Given the description of an element on the screen output the (x, y) to click on. 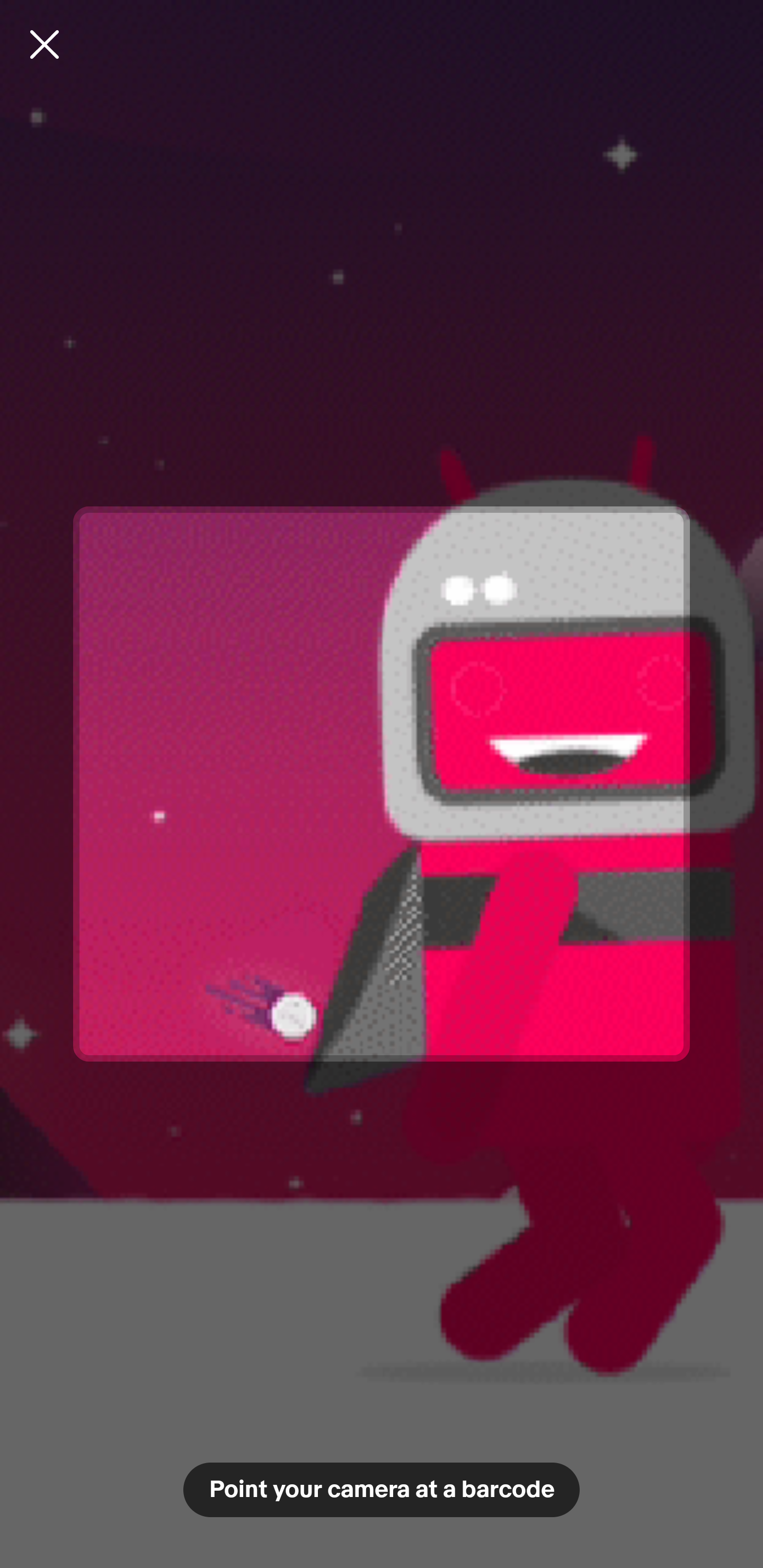
Close (44, 44)
